Given the description of an element on the screen output the (x, y) to click on. 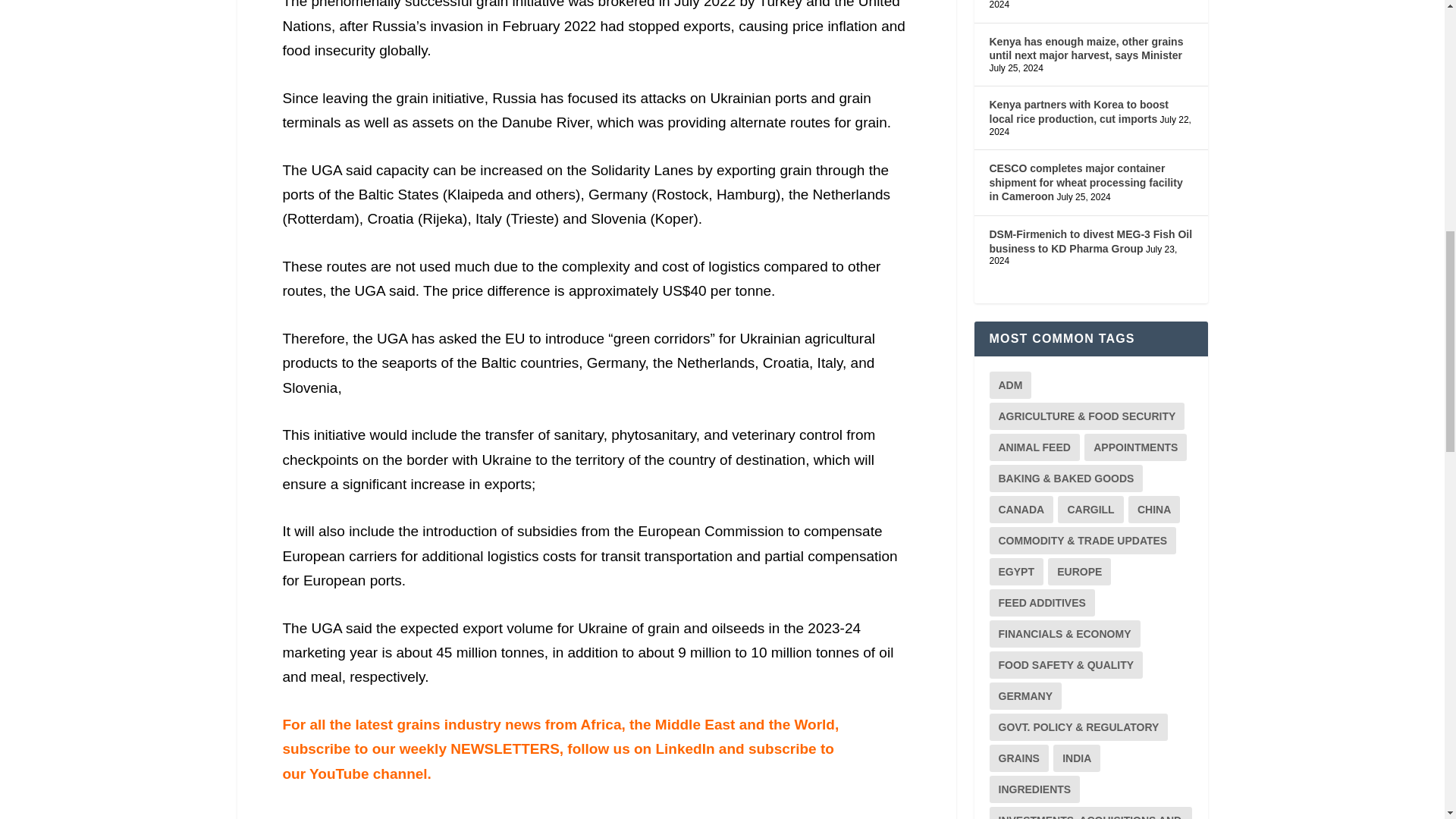
NEWSLETTERS (504, 748)
LinkedIn (684, 748)
Africa (600, 724)
YouTube  (340, 773)
